Given the description of an element on the screen output the (x, y) to click on. 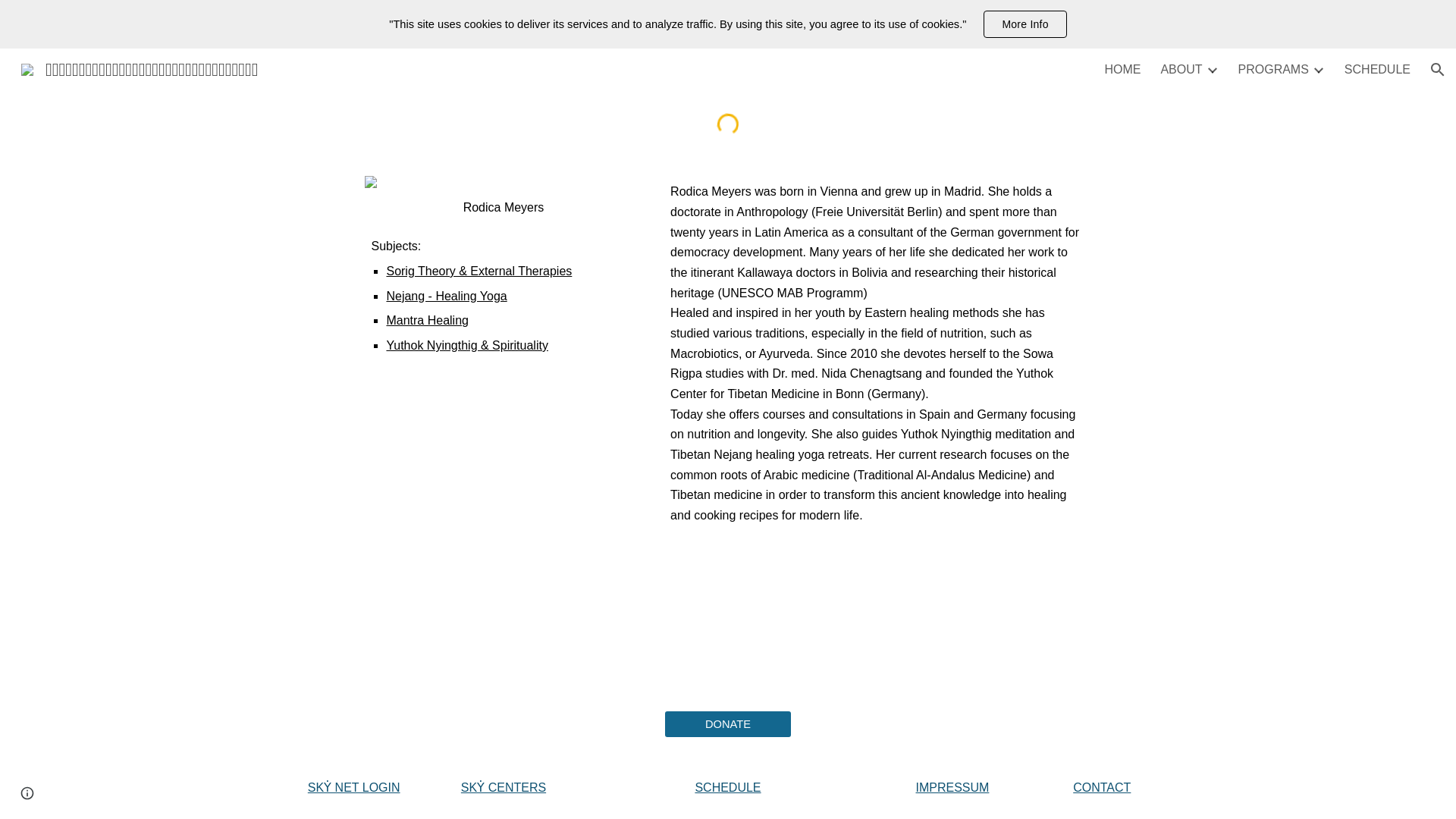
Custom embed (727, 123)
ABOUT (1181, 69)
HOME (1121, 69)
More Info (1024, 23)
More Info (1024, 23)
